Given the description of an element on the screen output the (x, y) to click on. 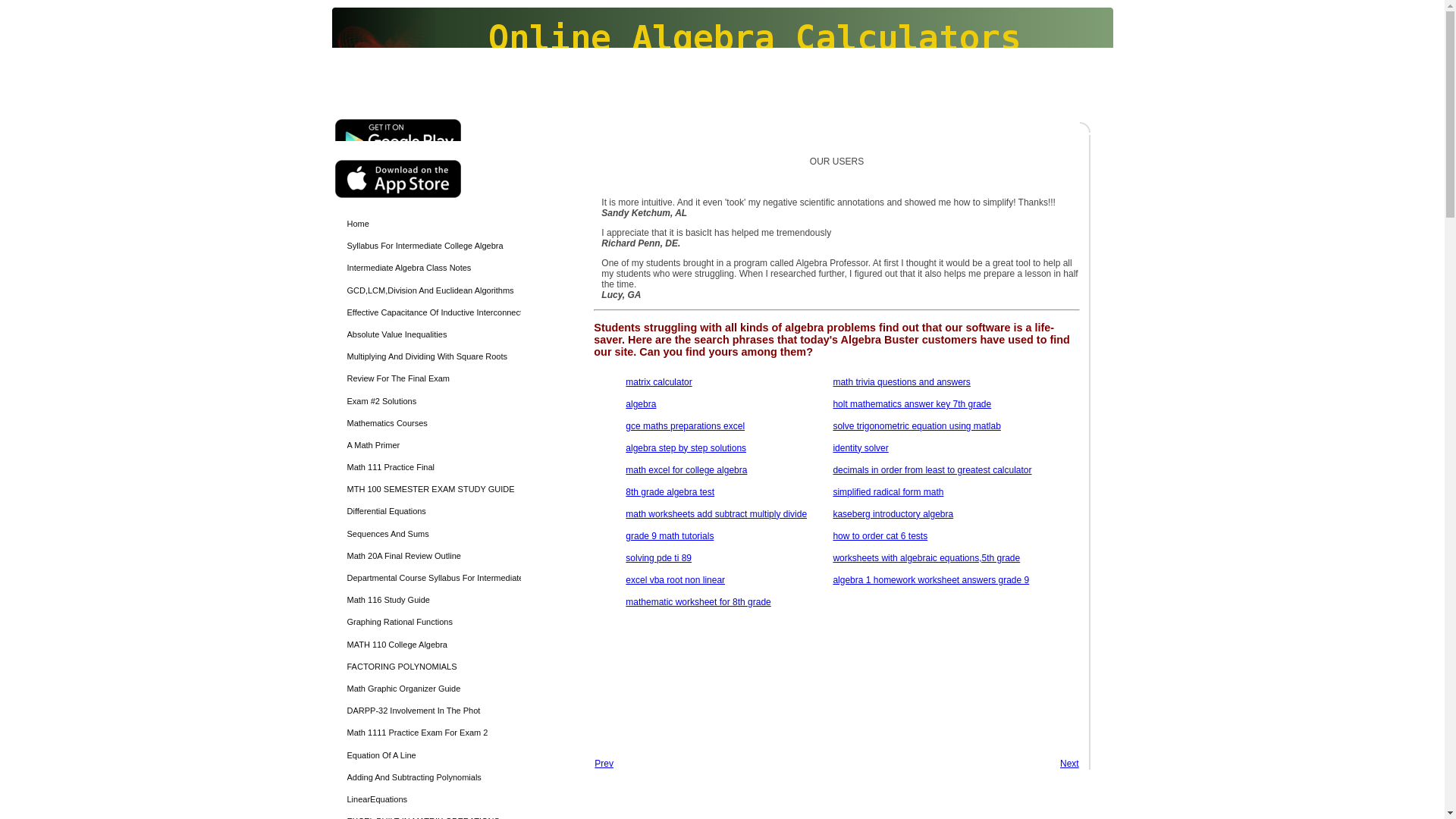
Equation Of A Line (434, 755)
Syllabus For Intermediate College Algebra (434, 246)
Math 111 Practice Final (434, 467)
Math Graphic Organizer Guide (434, 689)
GCD,LCM,Division And Euclidean Algorithms (434, 291)
Departmental Course Syllabus For Intermediate Algebra (434, 577)
MATH 110 College Algebra (434, 644)
EXCEL BUILT-IN MATRIX OPERATIONS (434, 814)
Mathematics Courses (434, 423)
Home (434, 223)
FACTORING POLYNOMIALS (434, 667)
Multiplying And Dividing With Square Roots (434, 356)
Sequences And Sums (434, 534)
Differential Equations (434, 511)
Effective Capacitance Of Inductive Interconnects (434, 312)
